Given the description of an element on the screen output the (x, y) to click on. 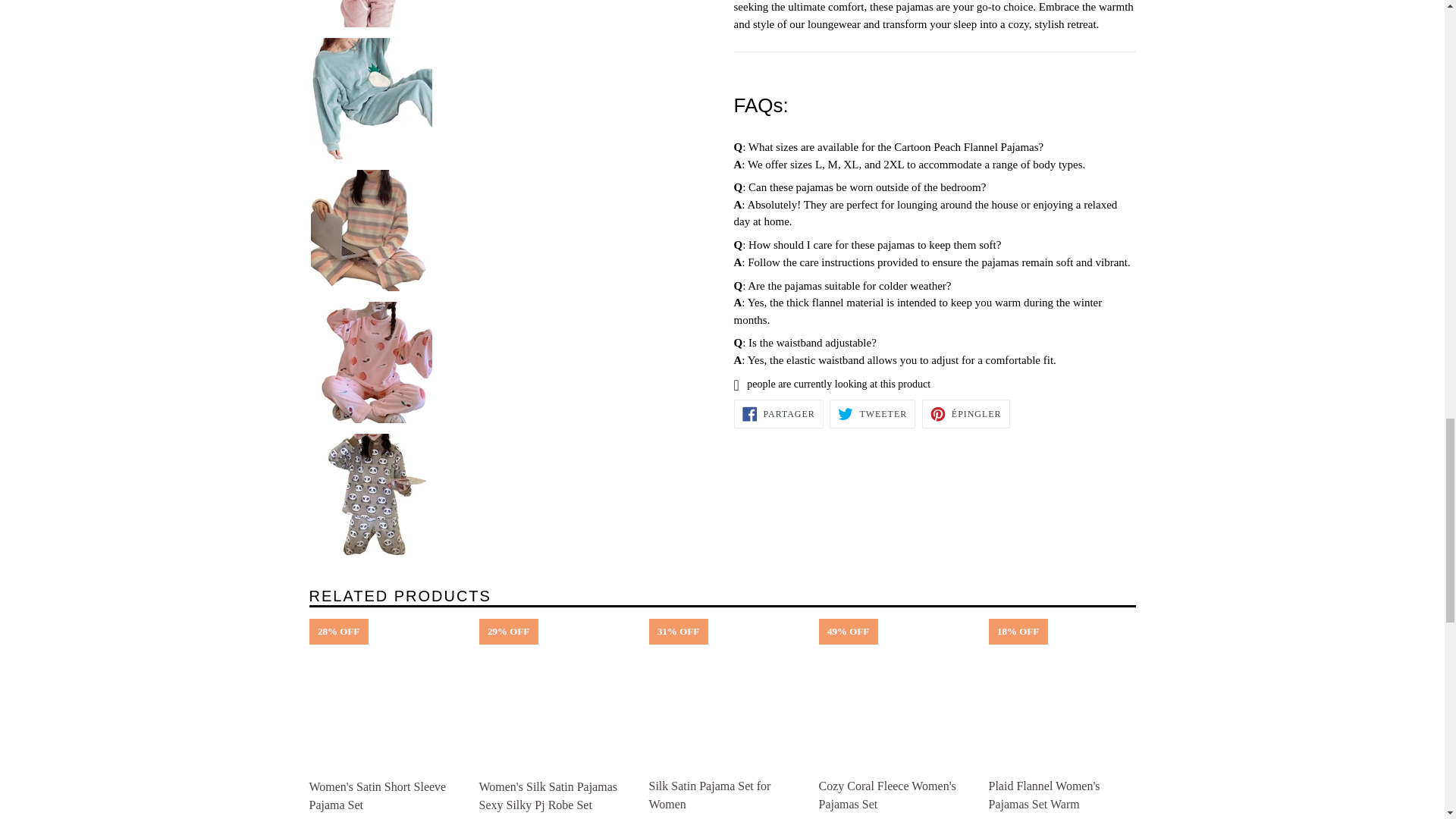
Tweeter sur Twitter (872, 413)
Partager sur Facebook (778, 413)
